Given the description of an element on the screen output the (x, y) to click on. 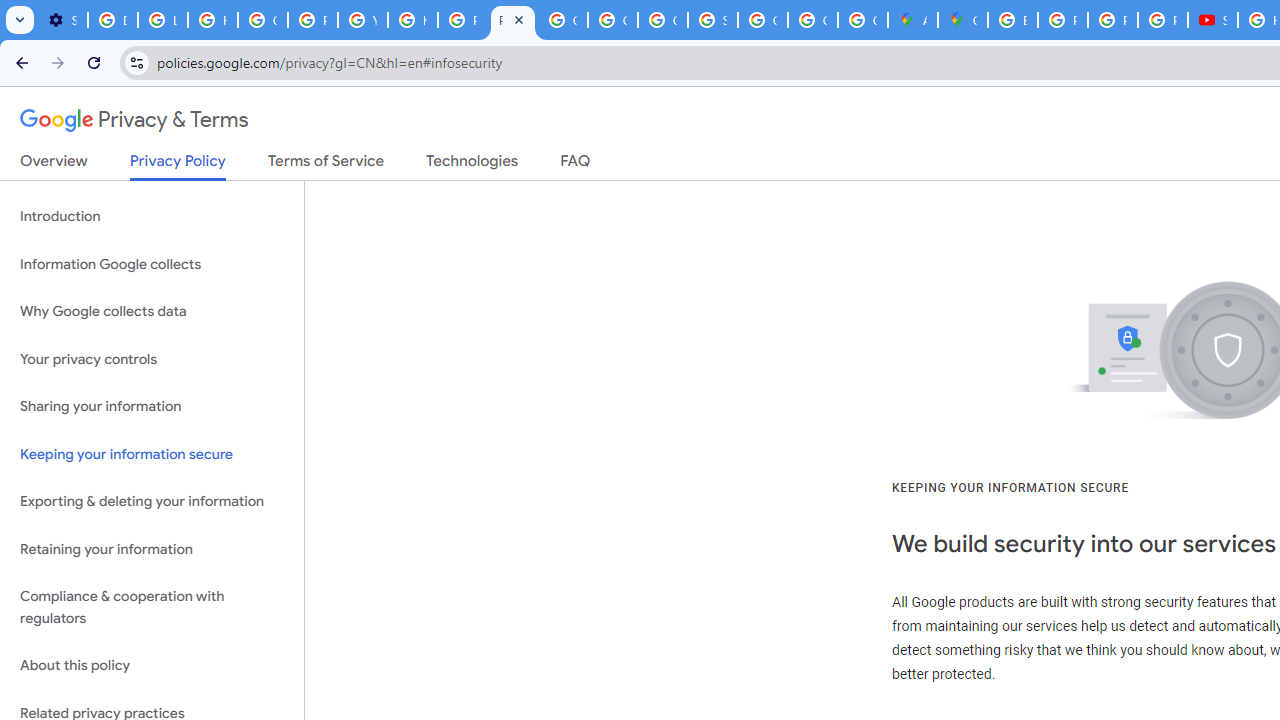
Technologies (472, 165)
